Given the description of an element on the screen output the (x, y) to click on. 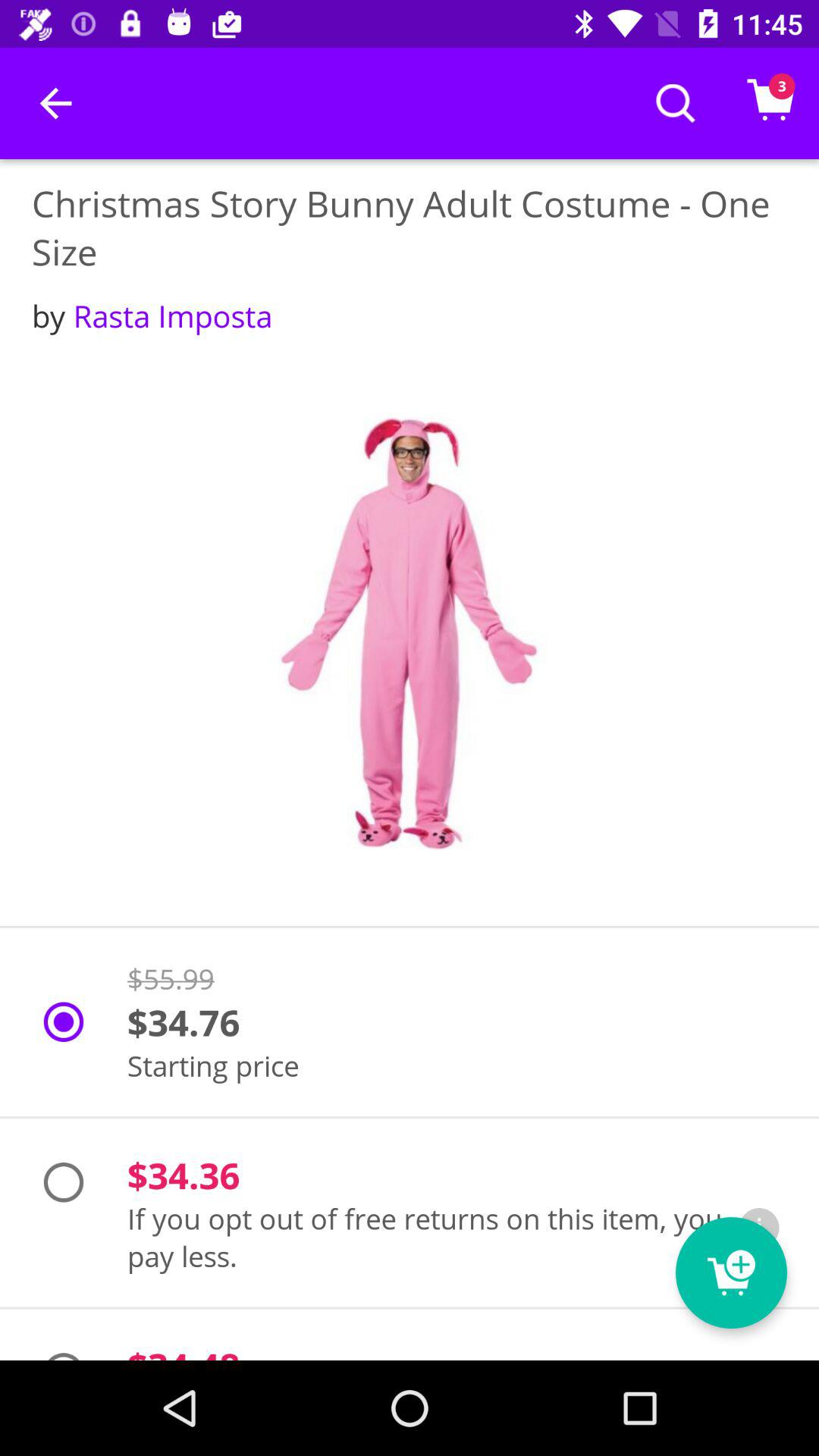
turn on the icon below christmas story bunny icon (151, 315)
